Given the description of an element on the screen output the (x, y) to click on. 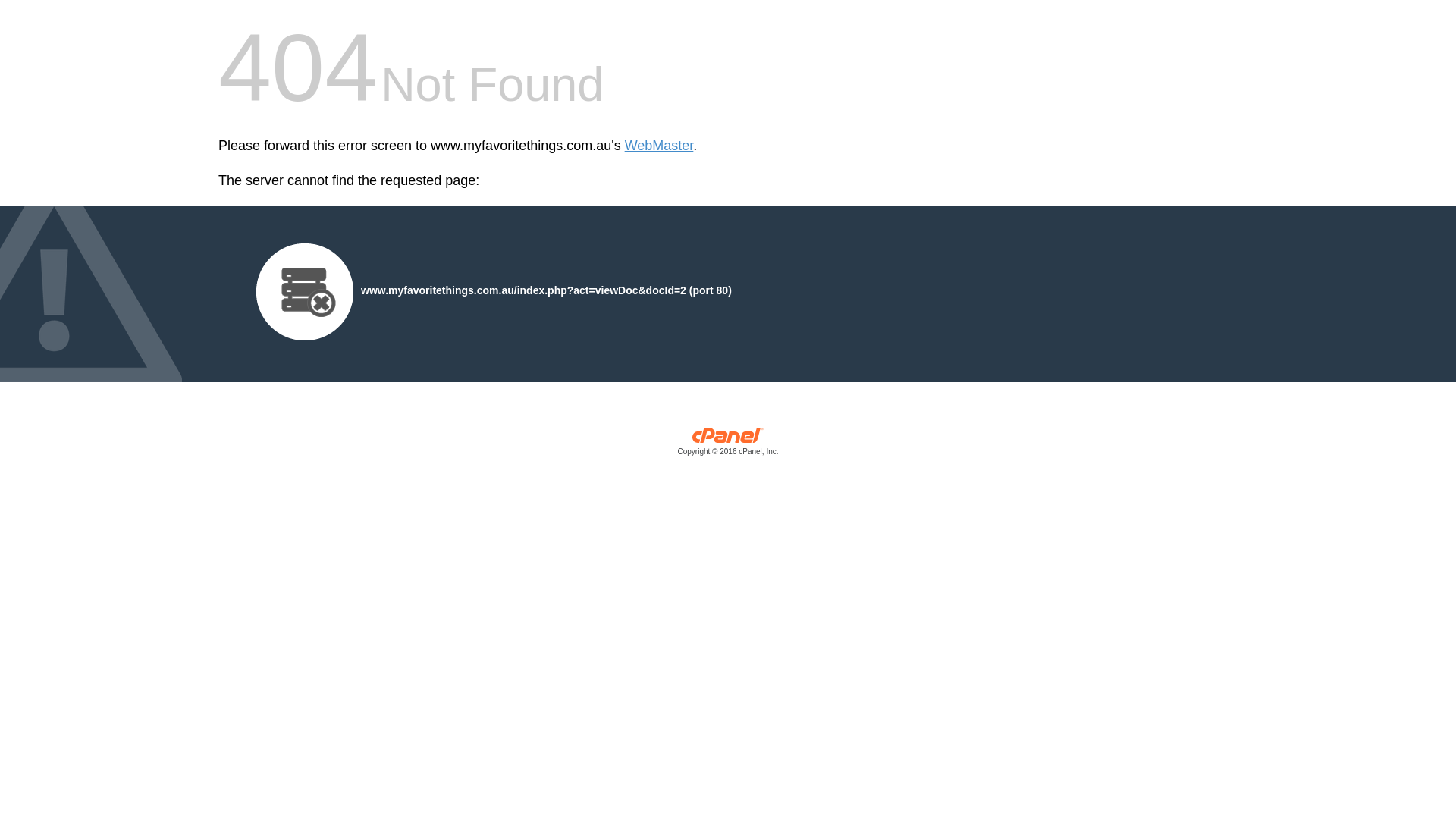
WebMaster Element type: text (658, 145)
